Given the description of an element on the screen output the (x, y) to click on. 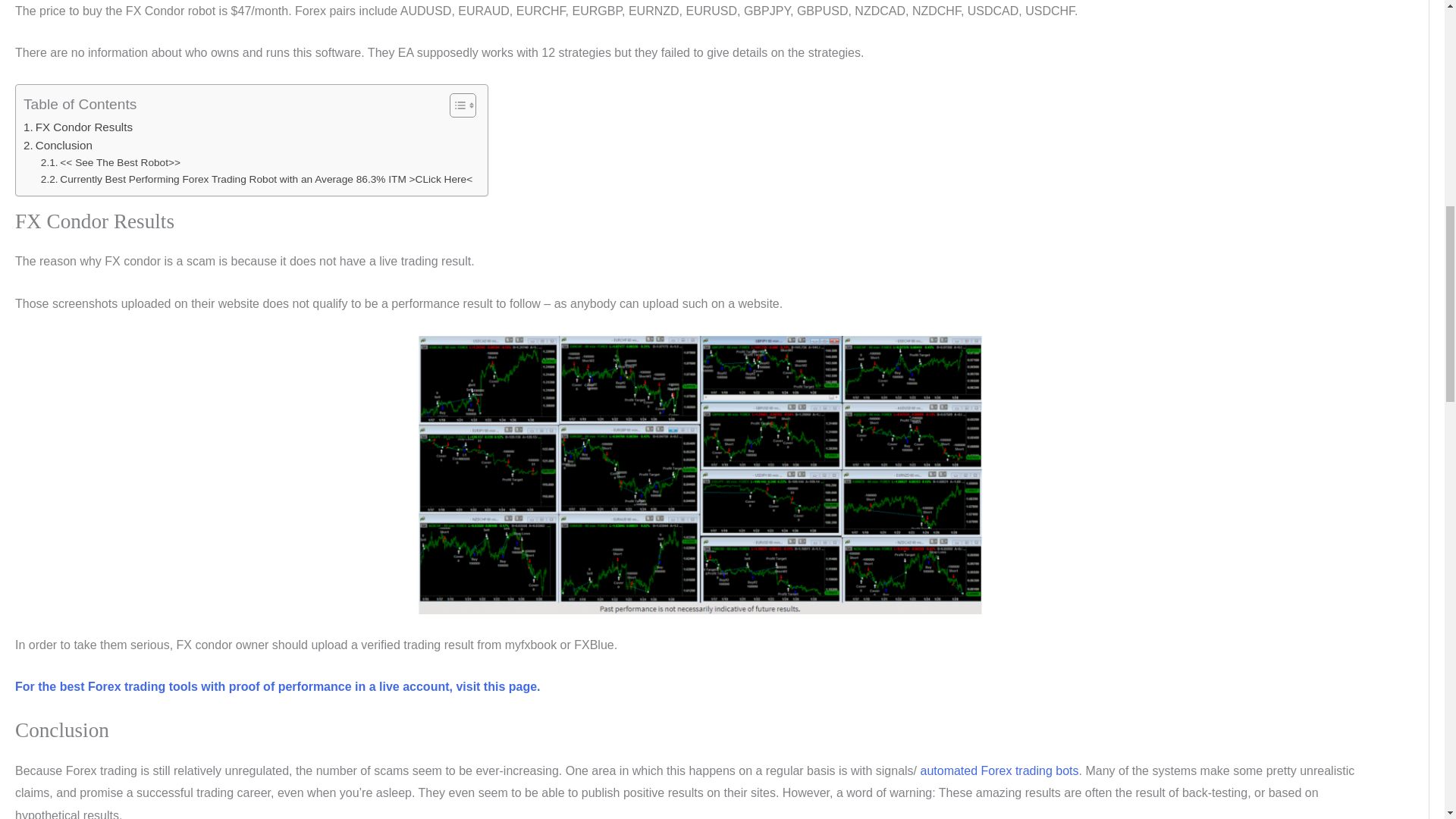
FX Condor Results (77, 126)
Conclusion (58, 145)
Conclusion (58, 145)
FX Condor Results (77, 126)
automated Forex trading bots (999, 770)
